Given the description of an element on the screen output the (x, y) to click on. 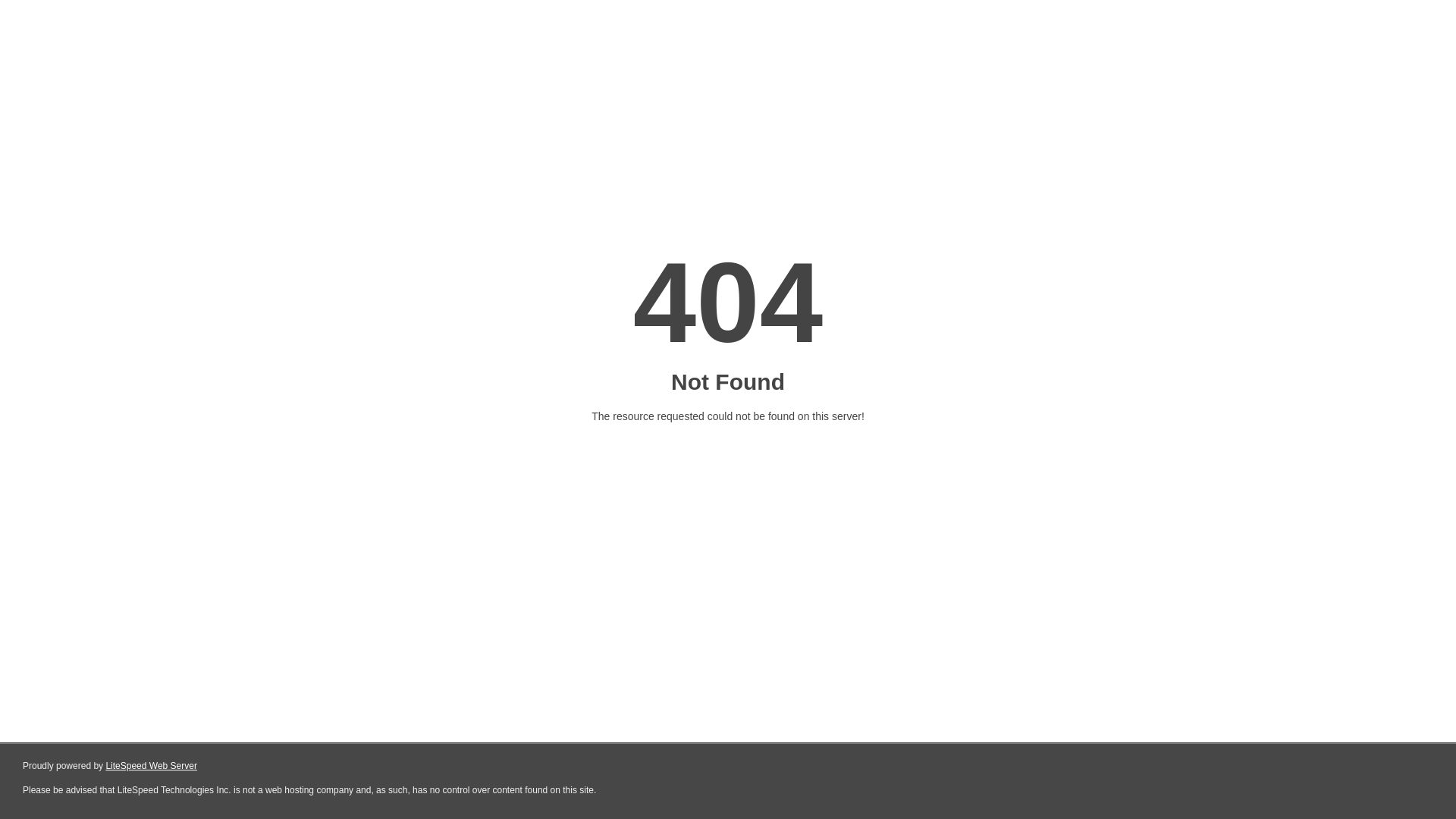
LiteSpeed Web Server Element type: text (151, 765)
